Given the description of an element on the screen output the (x, y) to click on. 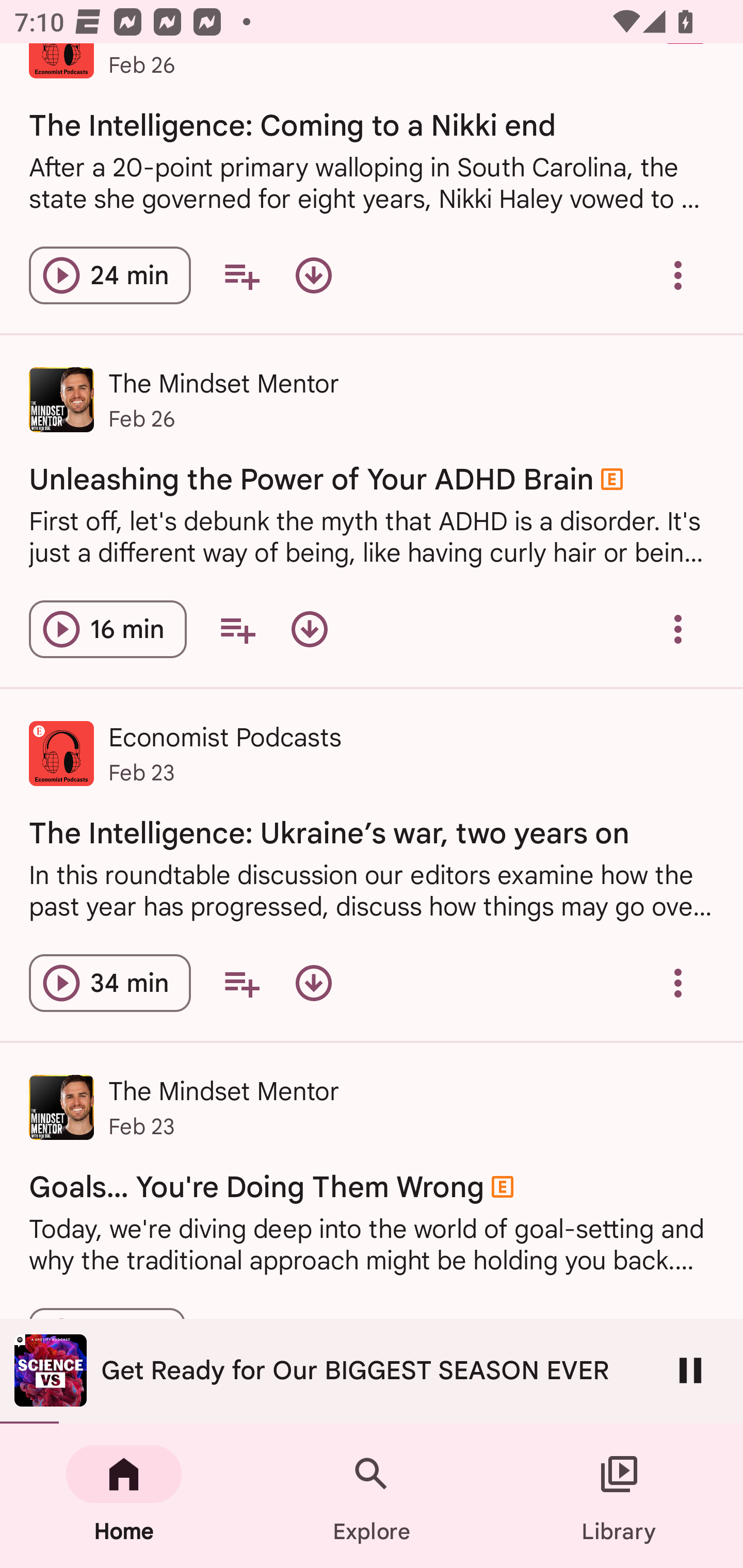
Add to your queue (241, 275)
Download episode (313, 275)
Overflow menu (677, 275)
Add to your queue (237, 629)
Download episode (309, 629)
Overflow menu (677, 629)
Add to your queue (241, 983)
Download episode (313, 983)
Overflow menu (677, 983)
Pause (690, 1370)
Explore (371, 1495)
Library (619, 1495)
